Given the description of an element on the screen output the (x, y) to click on. 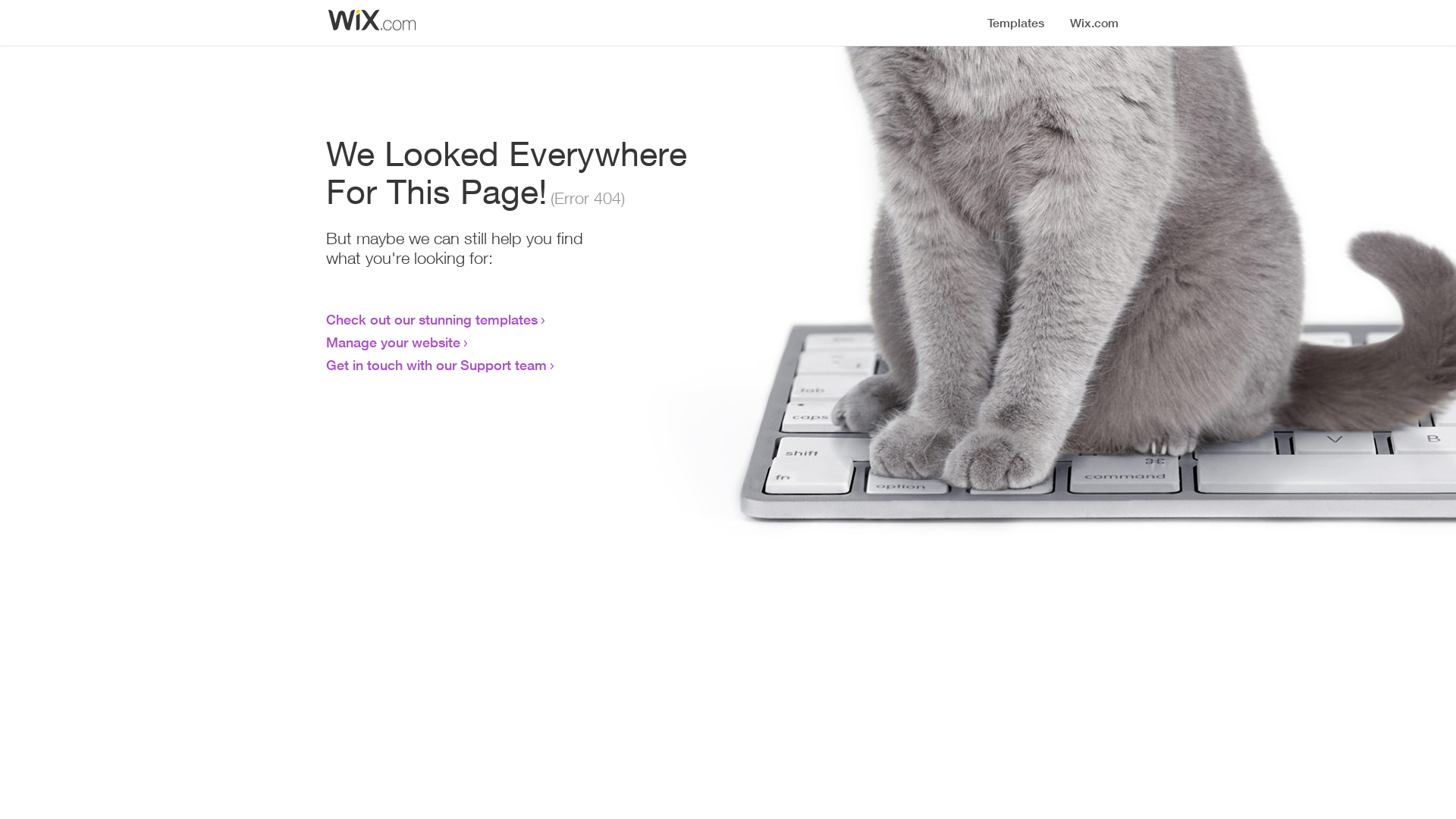
Manage your website Element type: text (393, 341)
Check out our stunning templates Element type: text (431, 318)
Get in touch with our Support team Element type: text (436, 364)
